Given the description of an element on the screen output the (x, y) to click on. 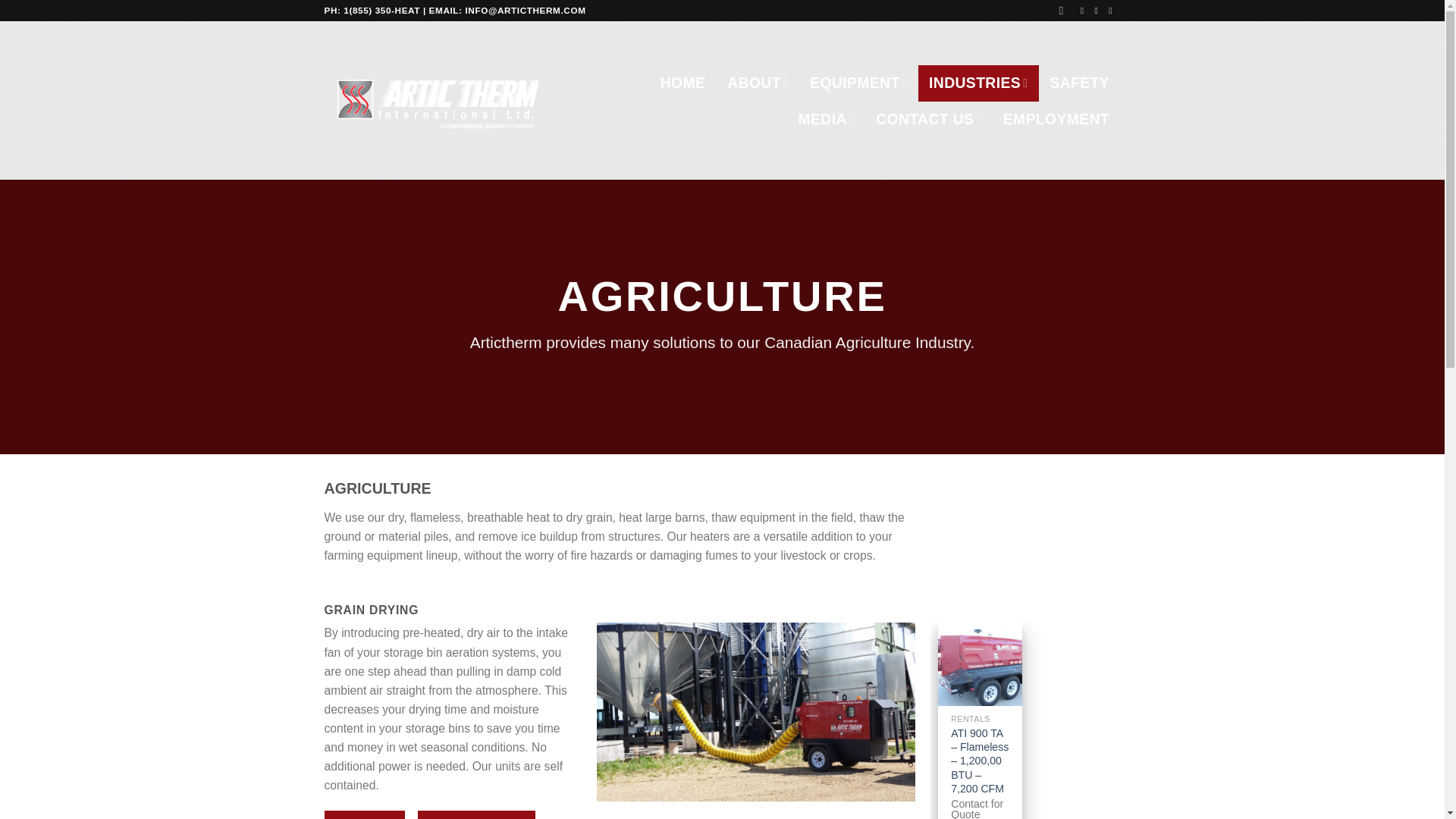
EQUIPMENT (858, 83)
Follow on Twitter (1084, 9)
EMPLOYMENT (1055, 119)
ABOUT (757, 83)
HOME (682, 83)
SAFETY (1080, 83)
Send us an email (1098, 9)
INDUSTRIES (978, 83)
GRAIN DRYING 101 (476, 814)
Follow on LinkedIn (1113, 9)
